Given the description of an element on the screen output the (x, y) to click on. 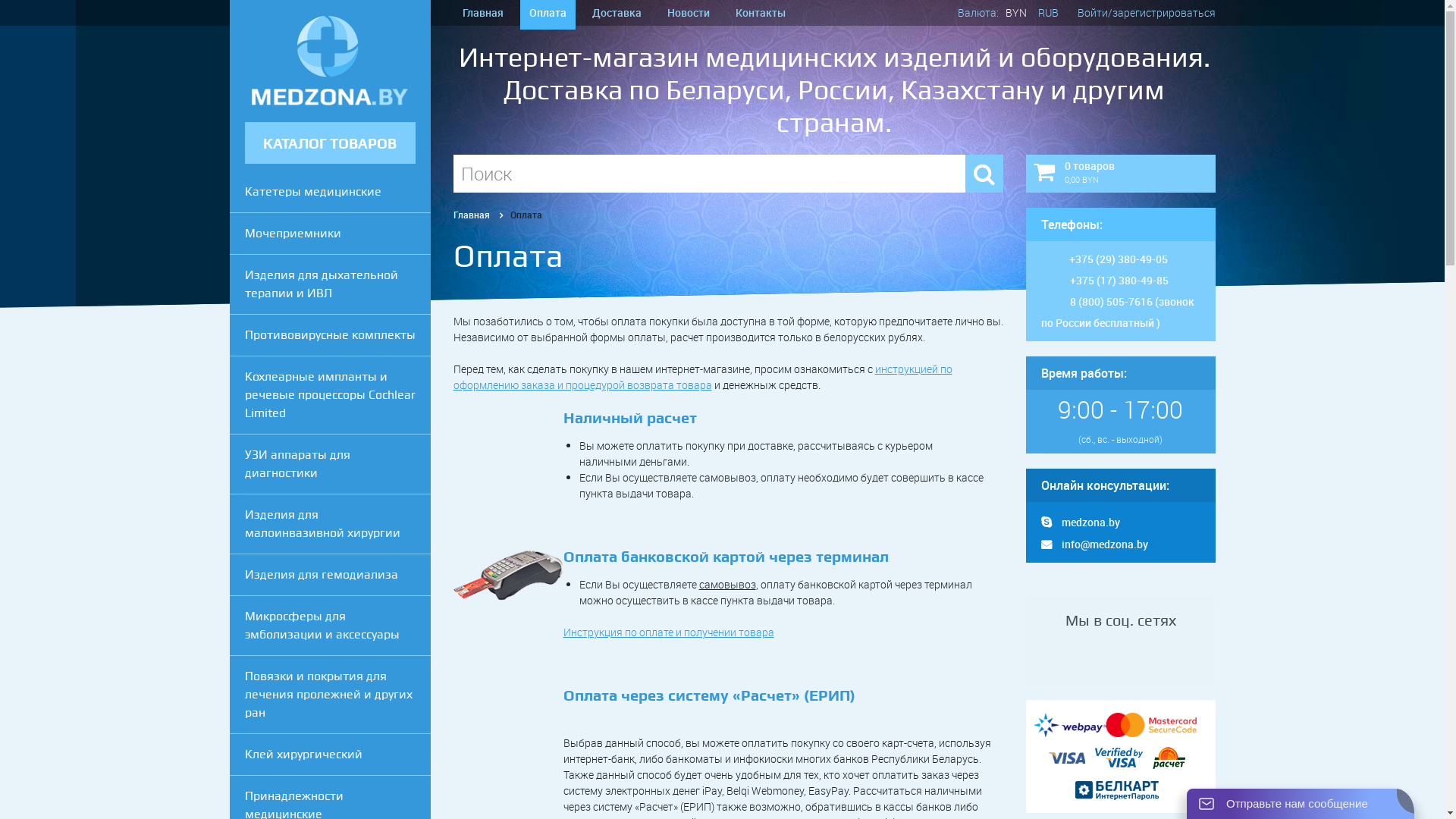
medzona.by Element type: text (1079, 521)
info@medzona.by Element type: text (1093, 543)
RUB Element type: text (1047, 12)
+375 (17) 380-49-85 Element type: text (1118, 280)
+375 (29) 380-49-05 Element type: text (1118, 258)
BYN Element type: text (1016, 12)
